Given the description of an element on the screen output the (x, y) to click on. 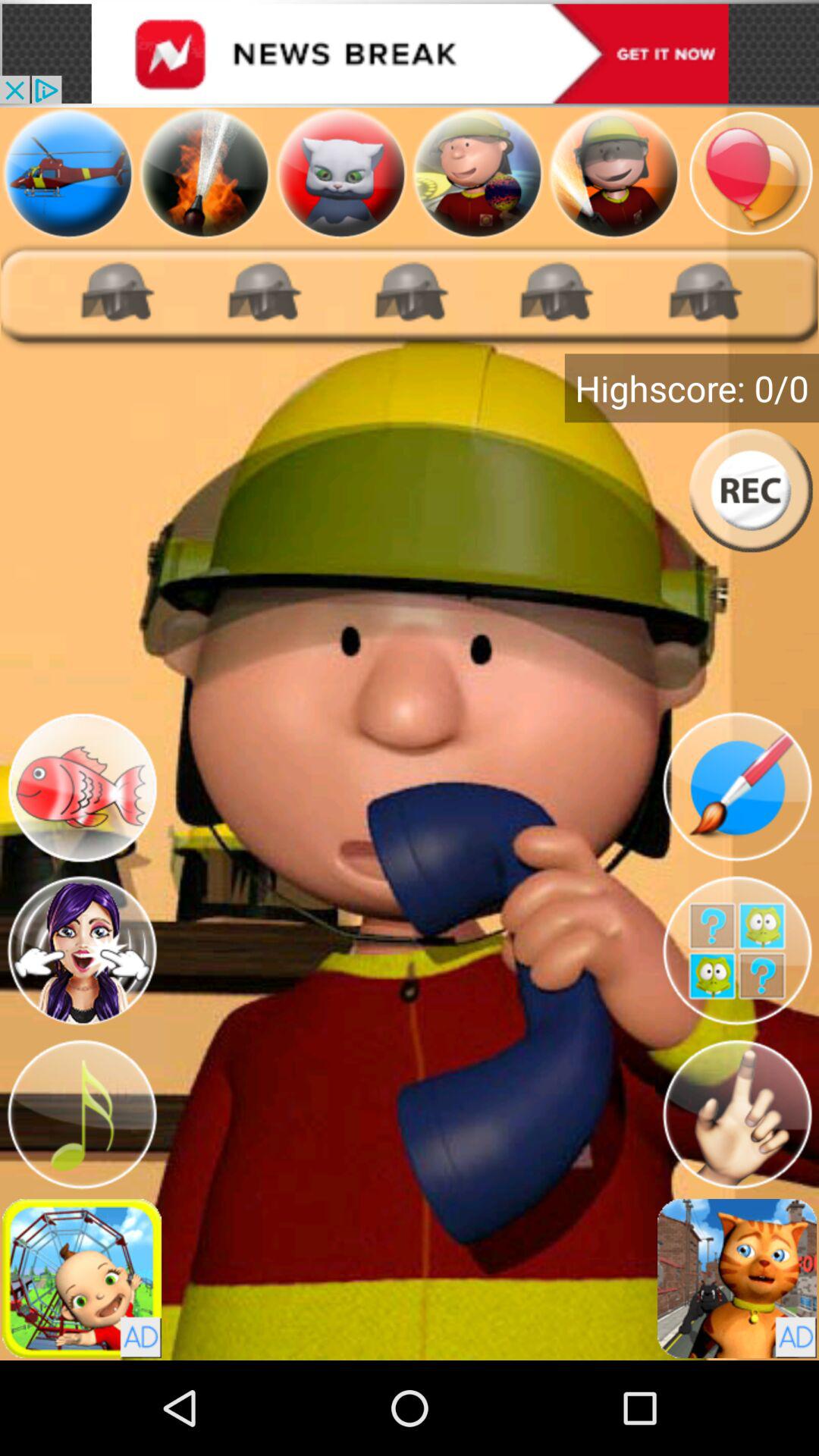
draw on image (737, 787)
